Given the description of an element on the screen output the (x, y) to click on. 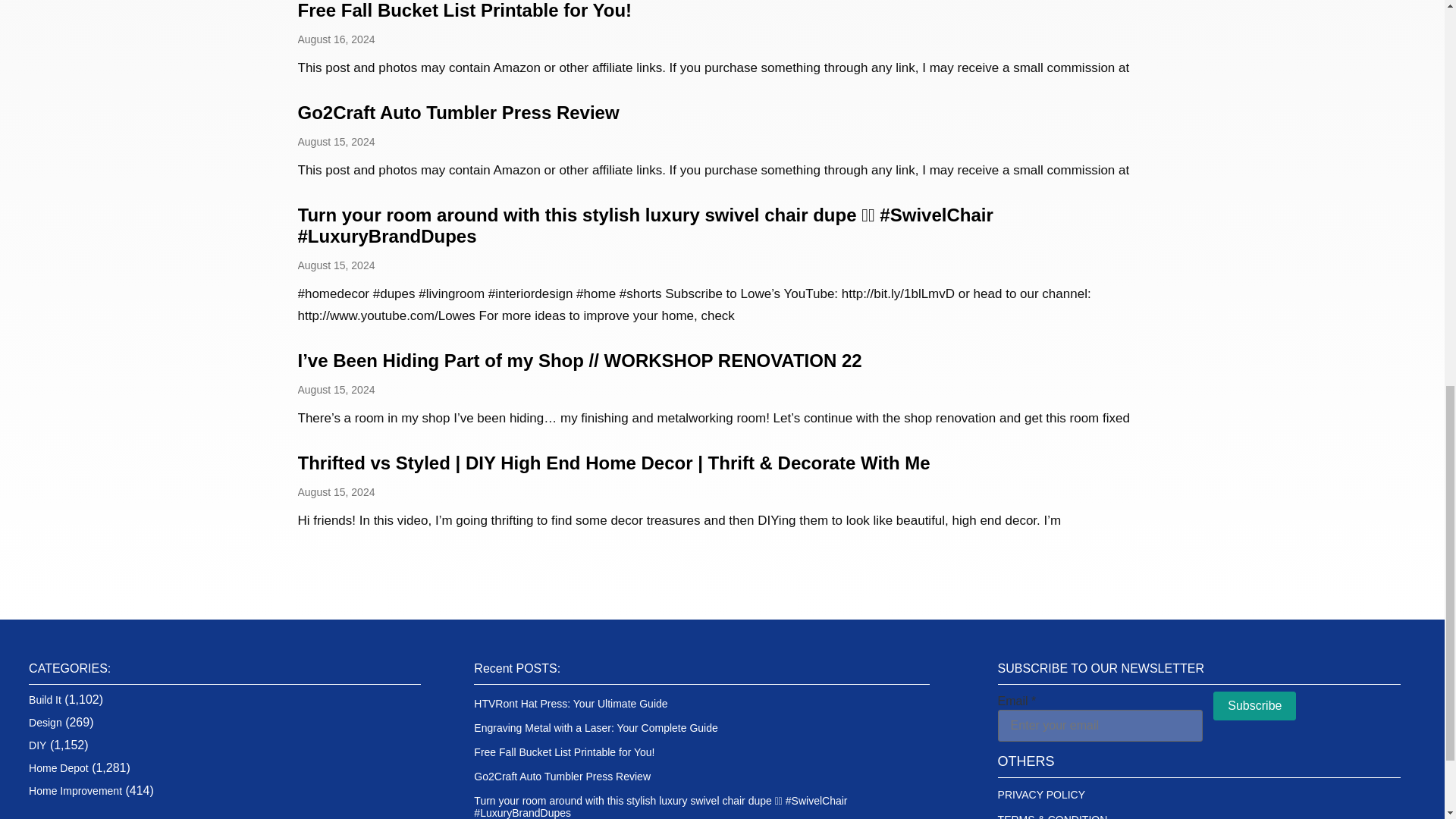
Home Depot (58, 767)
Home Improvement (75, 790)
Free Fall Bucket List Printable for You! (464, 10)
HTVRont Hat Press: Your Ultimate Guide (570, 703)
Design (45, 722)
DIY (37, 745)
Go2Craft Auto Tumbler Press Review (457, 112)
Engraving Metal with a Laser: Your Complete Guide (595, 727)
Build It (45, 699)
